Given the description of an element on the screen output the (x, y) to click on. 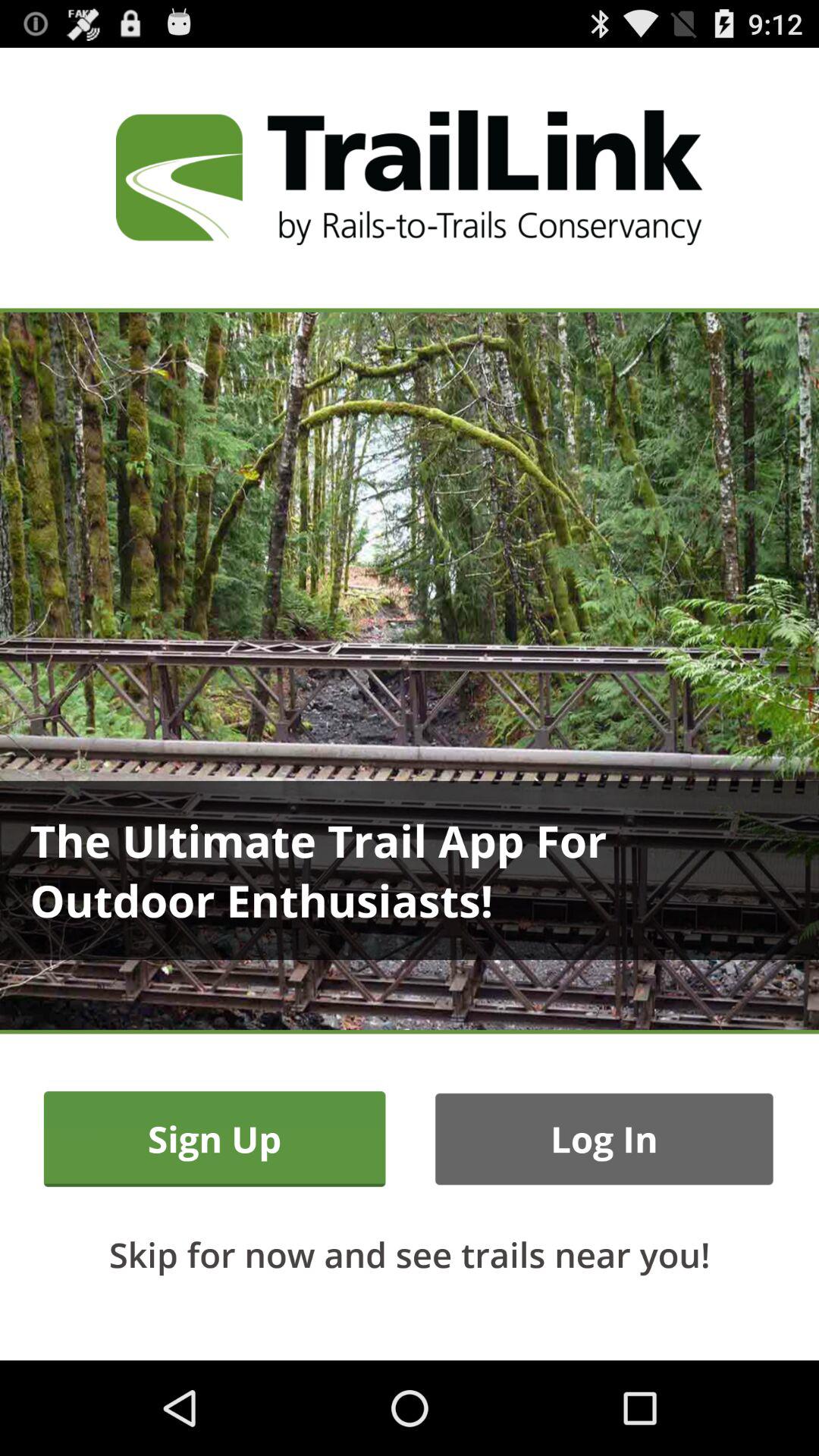
turn on item at the bottom right corner (604, 1138)
